Given the description of an element on the screen output the (x, y) to click on. 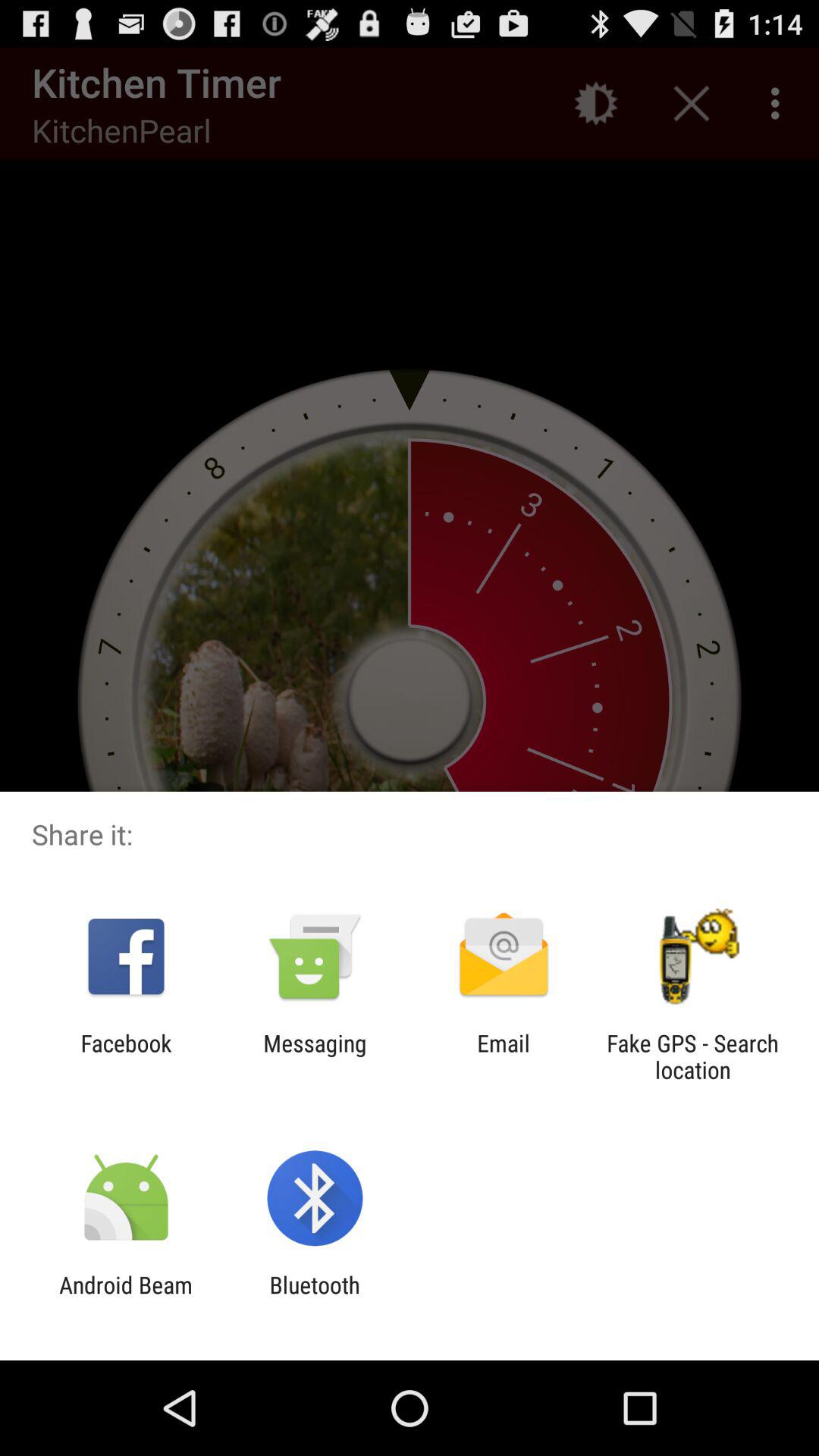
turn off the bluetooth item (314, 1298)
